Given the description of an element on the screen output the (x, y) to click on. 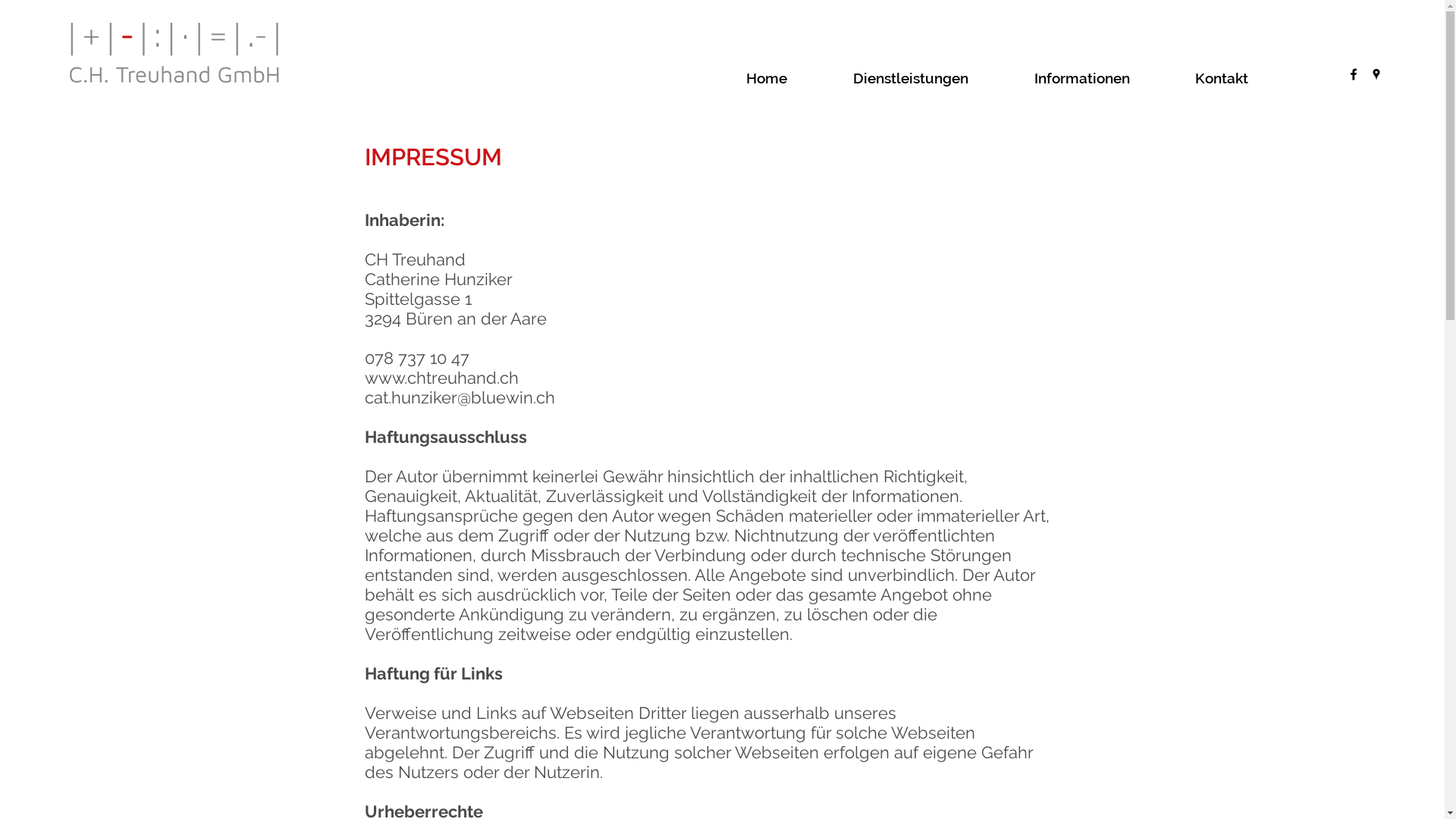
cat.hunziker@bluewin.ch Element type: text (459, 397)
Informationen Element type: text (1106, 77)
www.chtreuhand.ch Element type: text (440, 377)
Home Element type: text (791, 77)
Dienstleistungen Element type: text (935, 77)
CH Treuhand Element type: text (414, 268)
Kontakt Element type: text (1246, 77)
